Given the description of an element on the screen output the (x, y) to click on. 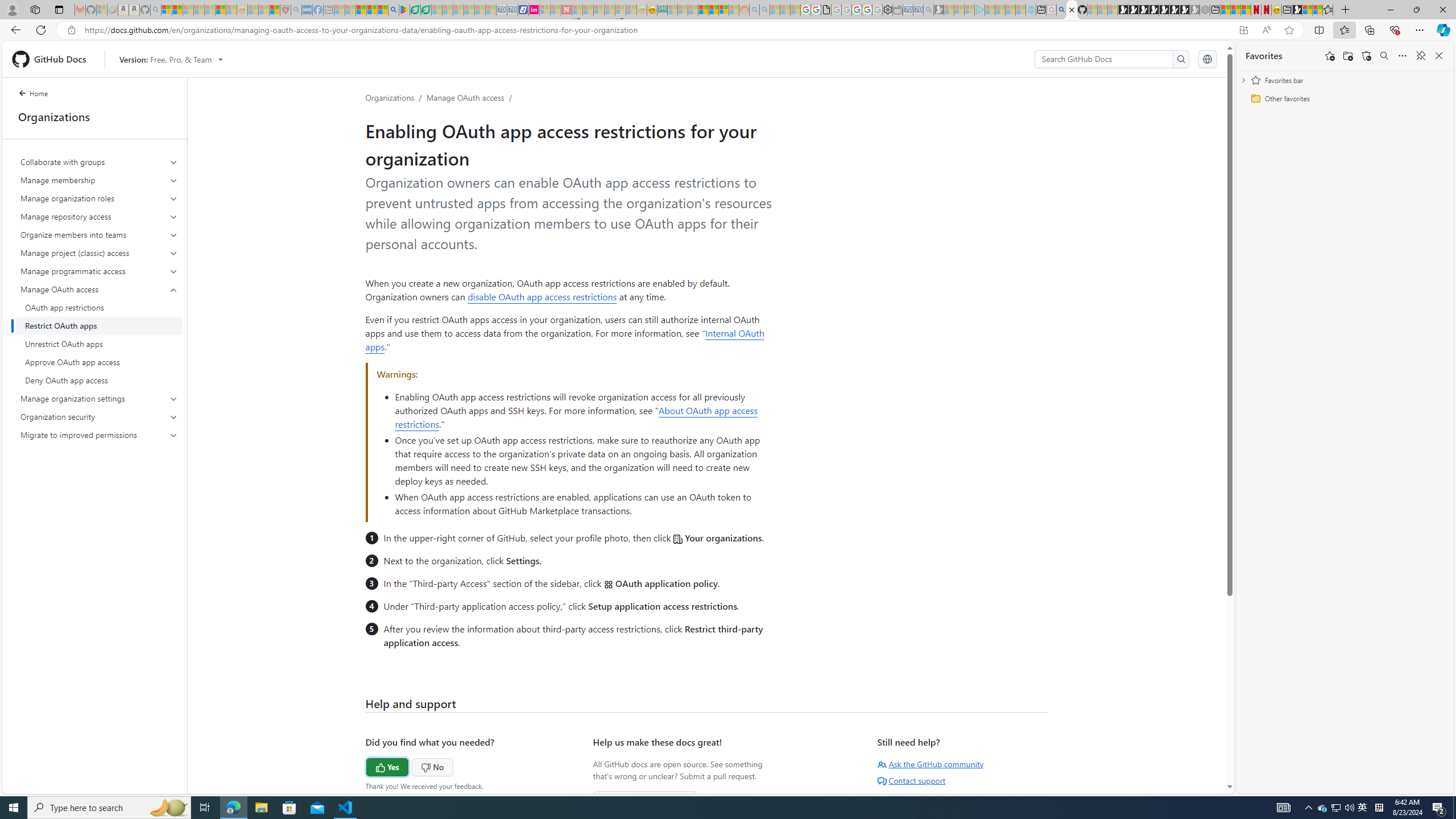
github - Search (1061, 9)
Organization security (99, 416)
Bluey: Let's Play! - Apps on Google Play (404, 9)
Manage organization roles (99, 198)
Manage repository access (99, 216)
Collaborate with groups (99, 162)
Restrict OAuth apps (99, 325)
